Given the description of an element on the screen output the (x, y) to click on. 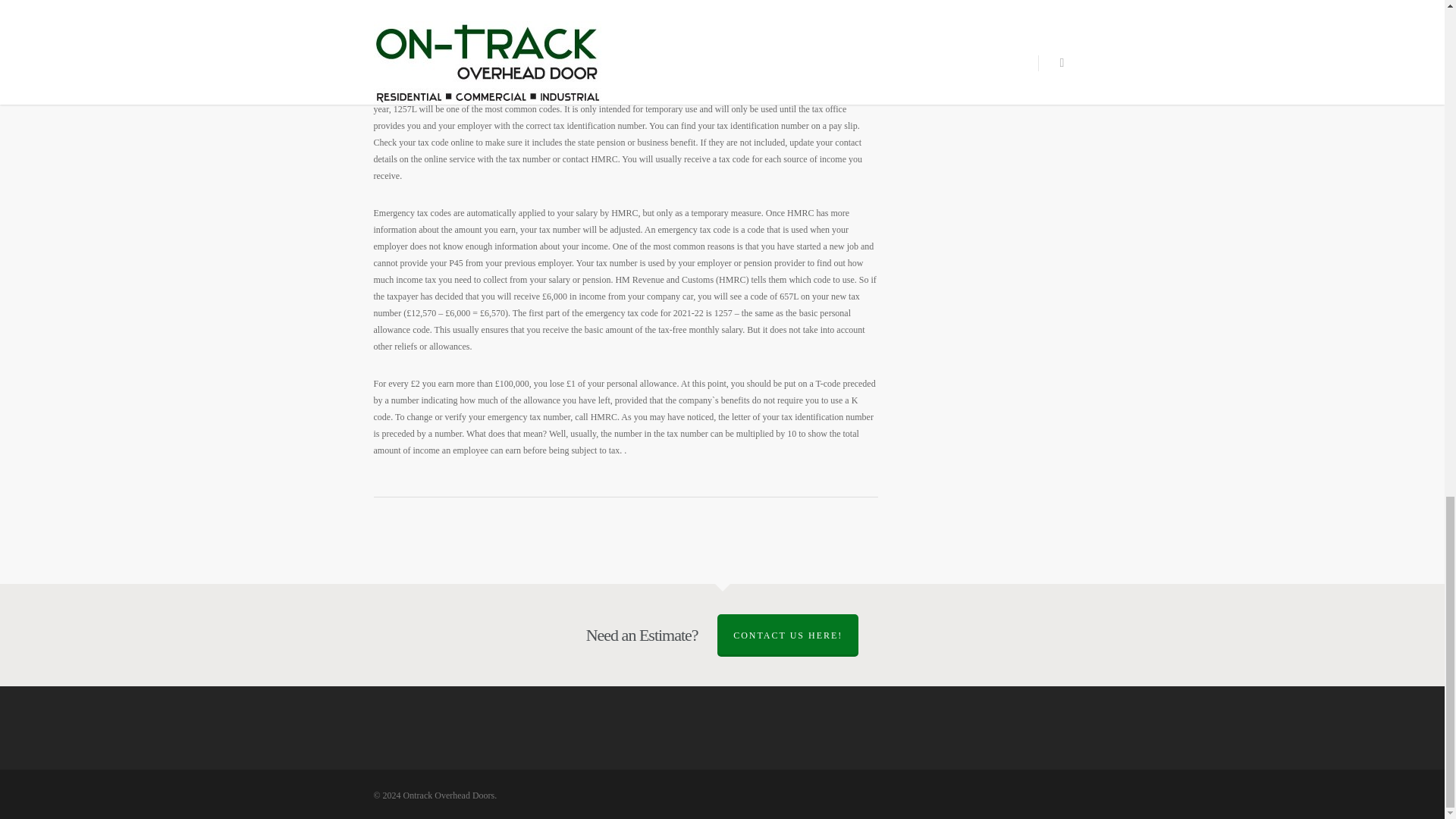
CONTACT US HERE! (788, 635)
